Given the description of an element on the screen output the (x, y) to click on. 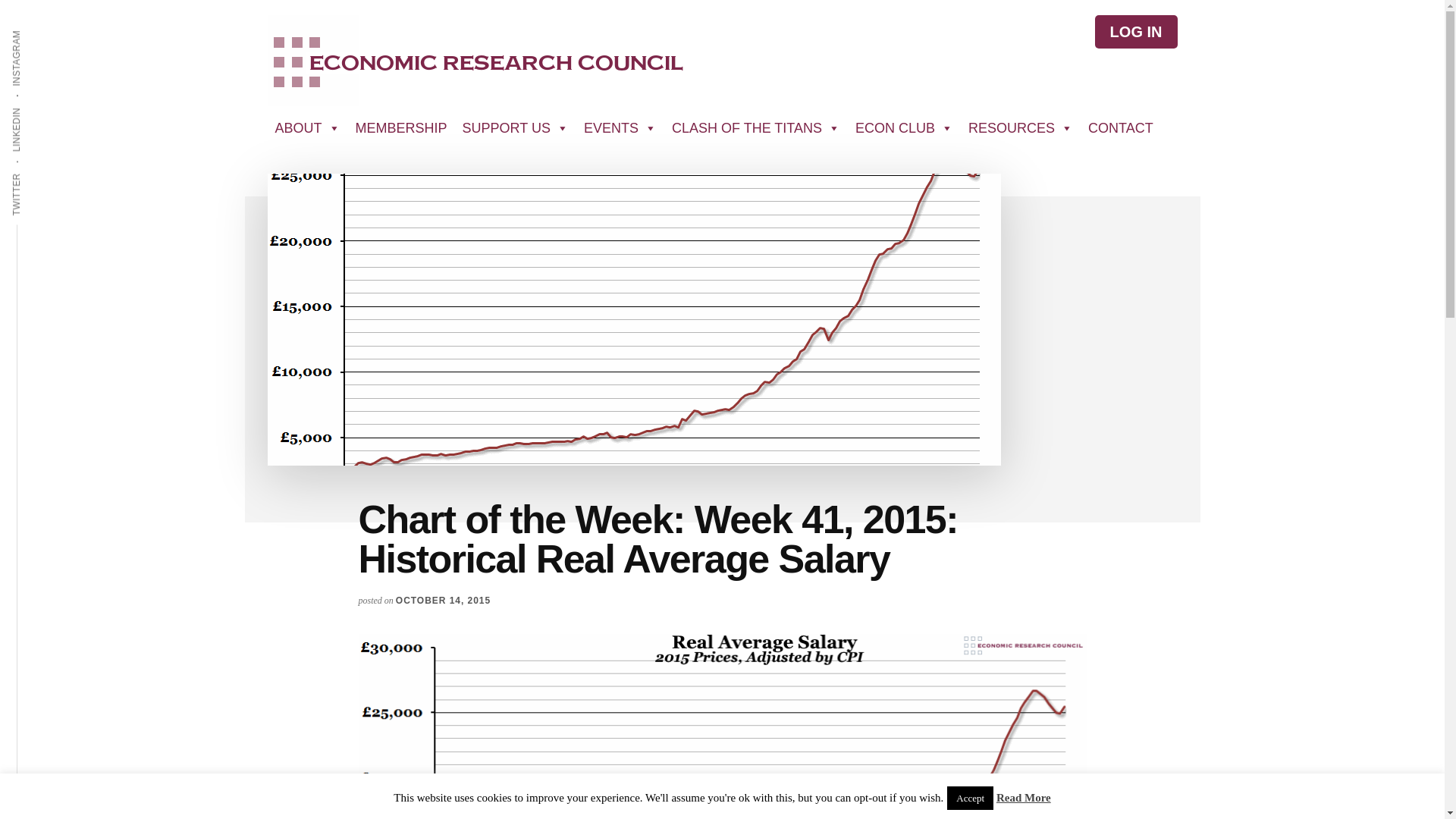
LOG IN (1135, 31)
CLASH OF THE TITANS (755, 128)
EVENTS (619, 128)
ABOUT (306, 128)
TWITTER (38, 172)
LINKEDIN (39, 106)
INSTAGRAM (45, 28)
CONTACT (1120, 128)
RESOURCES (1020, 128)
SUPPORT US (515, 128)
MEMBERSHIP (400, 128)
ECON CLUB (903, 128)
